Given the description of an element on the screen output the (x, y) to click on. 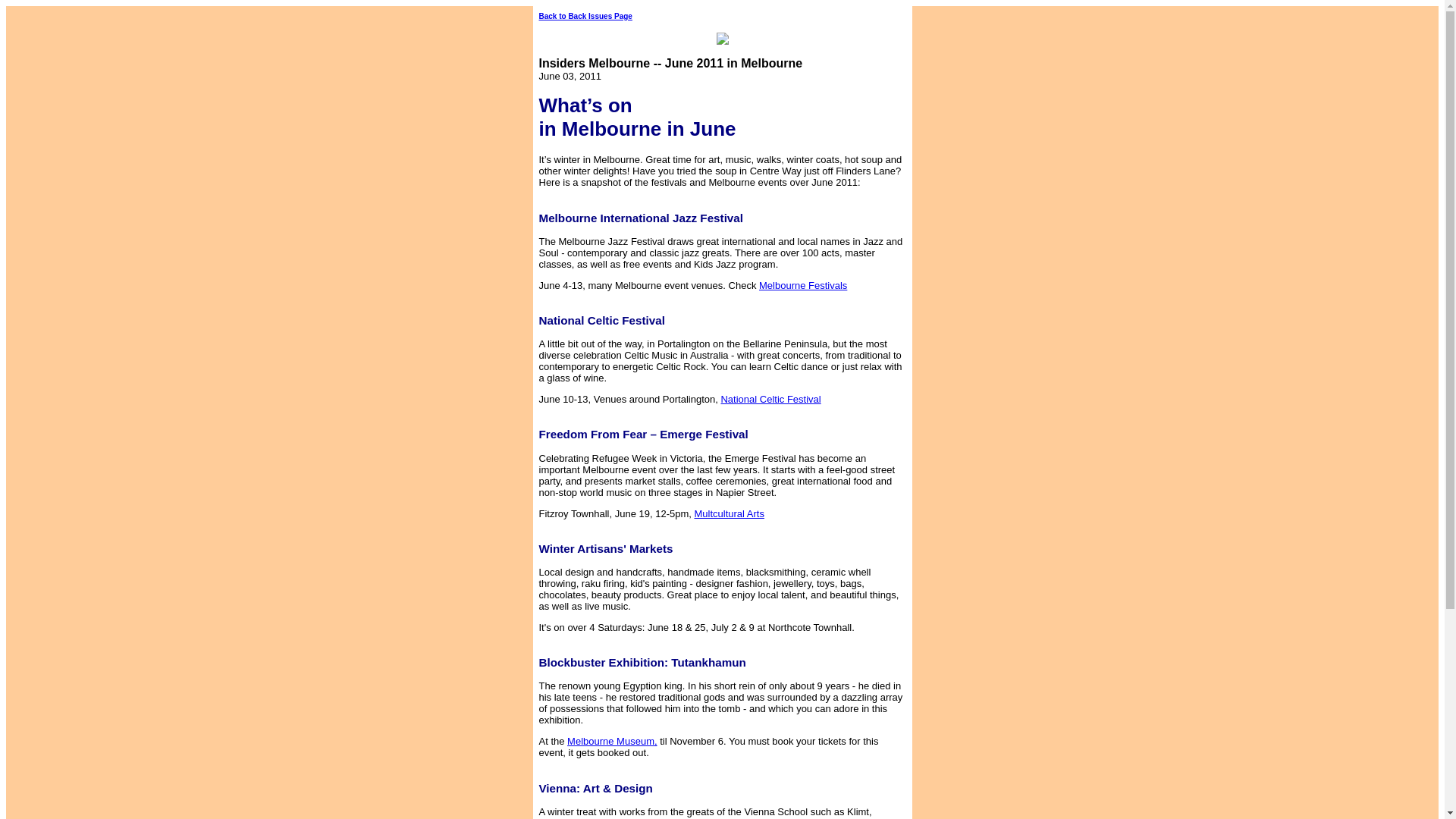
Melbourne Museum, (612, 740)
Multcultural Arts (806, 518)
Melbourne Festivals (912, 291)
National Celtic Festival (861, 404)
Back to Back Issues Page (584, 16)
